Given the description of an element on the screen output the (x, y) to click on. 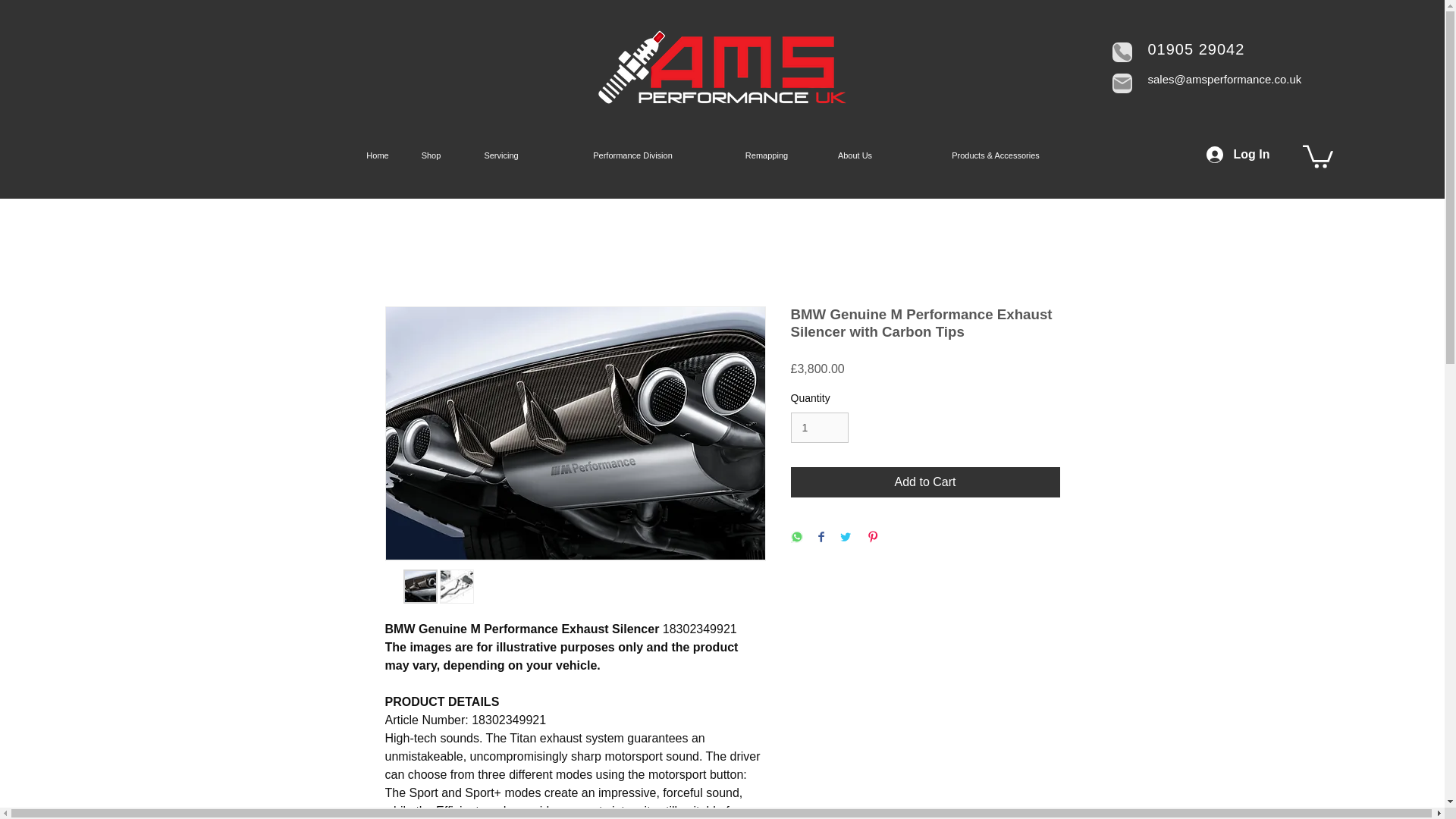
Servicing (501, 155)
1 (818, 427)
Add to Cart (924, 481)
About Us (855, 155)
Home (377, 155)
Shop (431, 155)
Log In (1238, 154)
Performance Division (632, 155)
Remapping (766, 155)
